Given the description of an element on the screen output the (x, y) to click on. 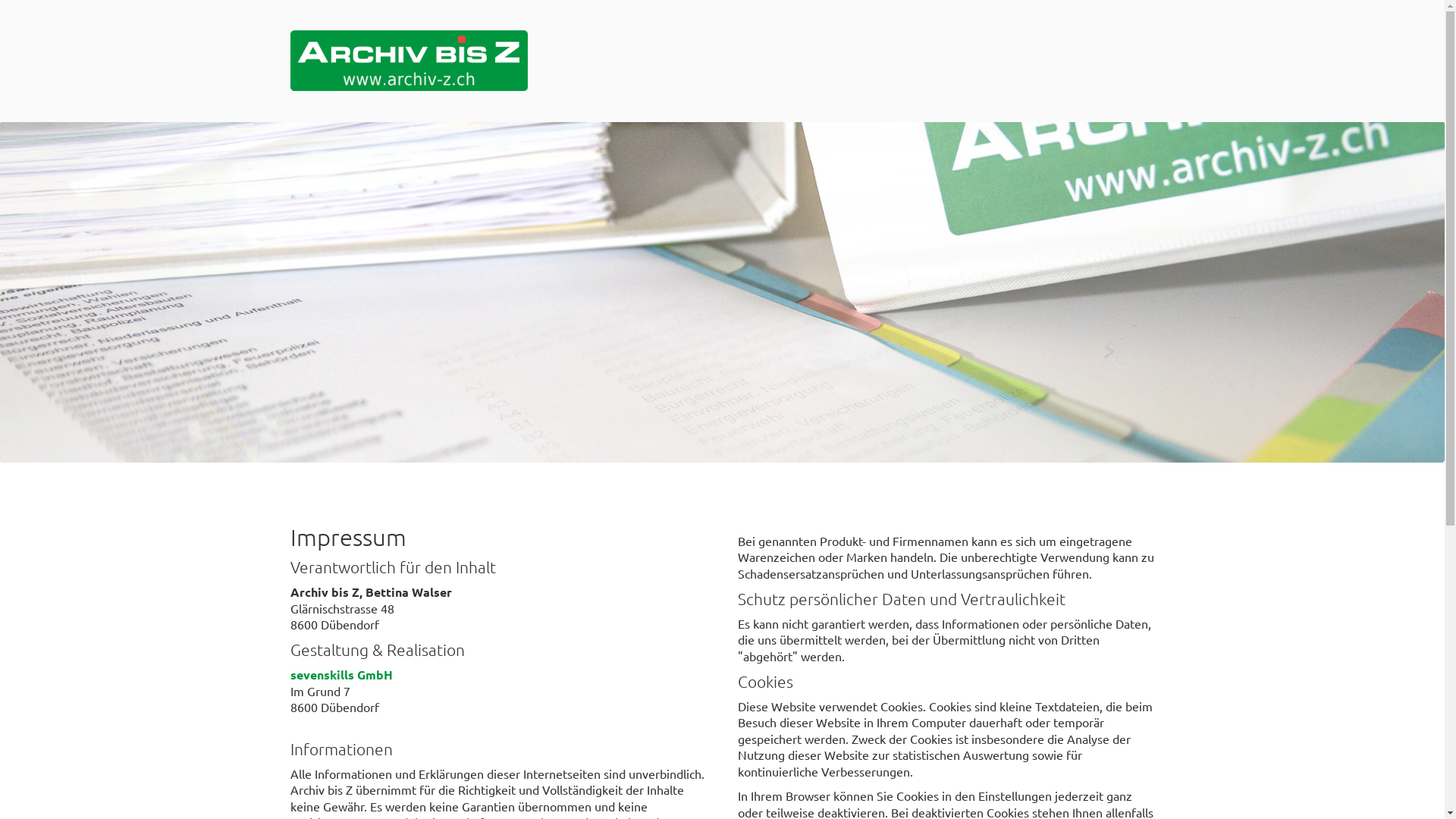
sevenskills GmbH Element type: text (340, 674)
